Given the description of an element on the screen output the (x, y) to click on. 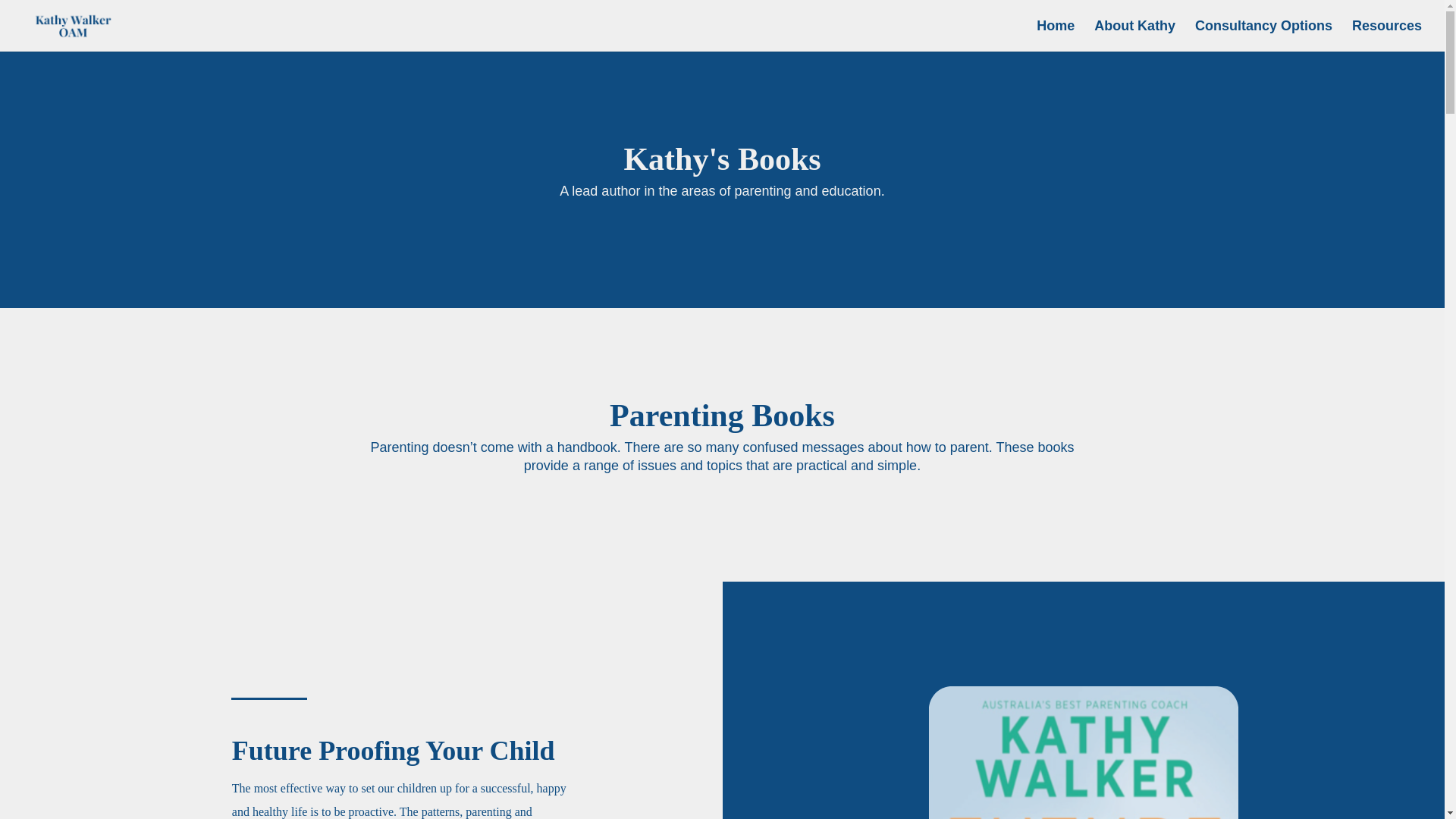
Home Element type: text (1055, 35)
Resources Element type: text (1386, 35)
About Kathy Element type: text (1134, 35)
Consultancy Options Element type: text (1263, 35)
